Given the description of an element on the screen output the (x, y) to click on. 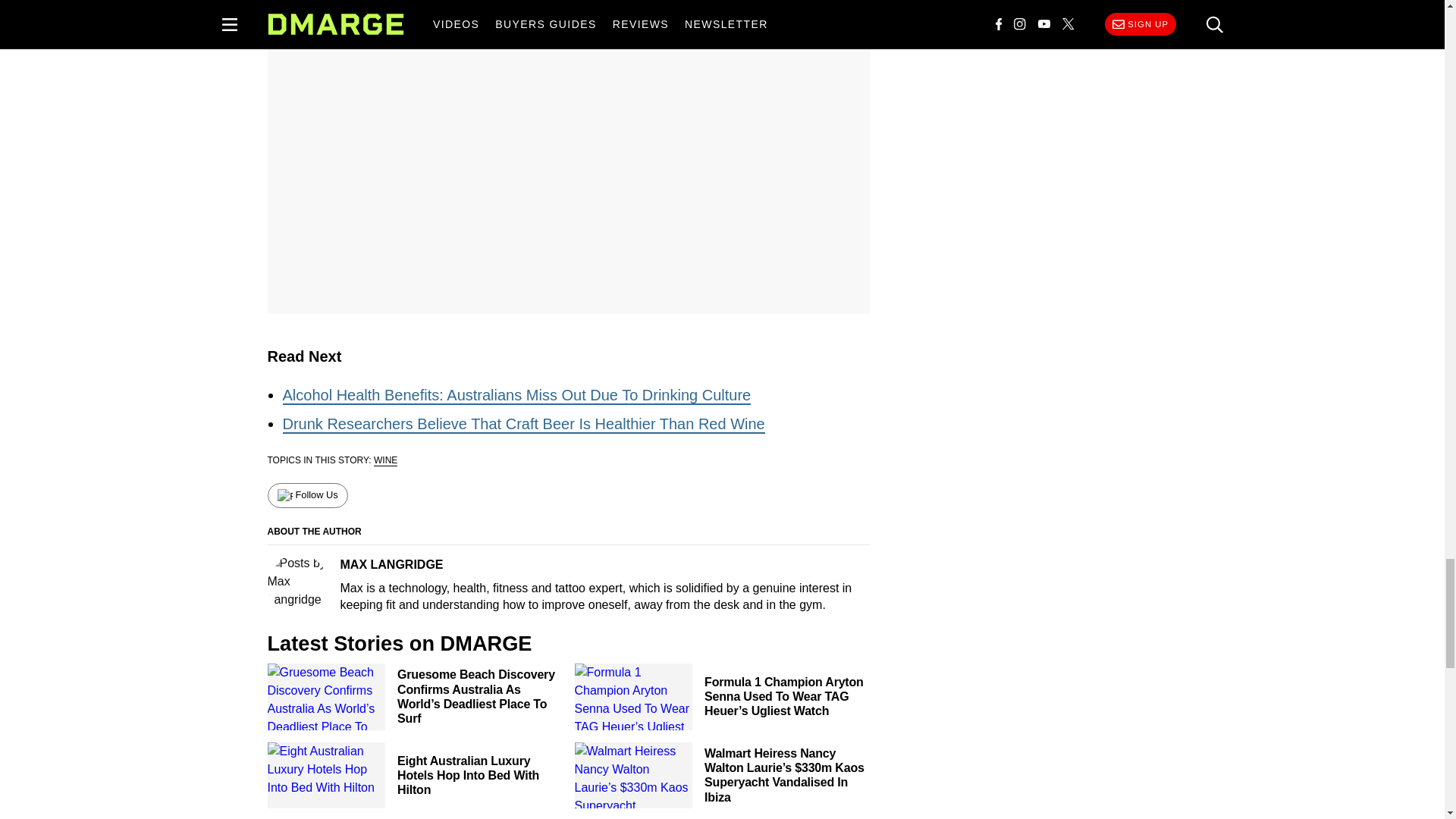
Posts by Max Langridge (296, 584)
Posts by Max Langridge (390, 563)
